Given the description of an element on the screen output the (x, y) to click on. 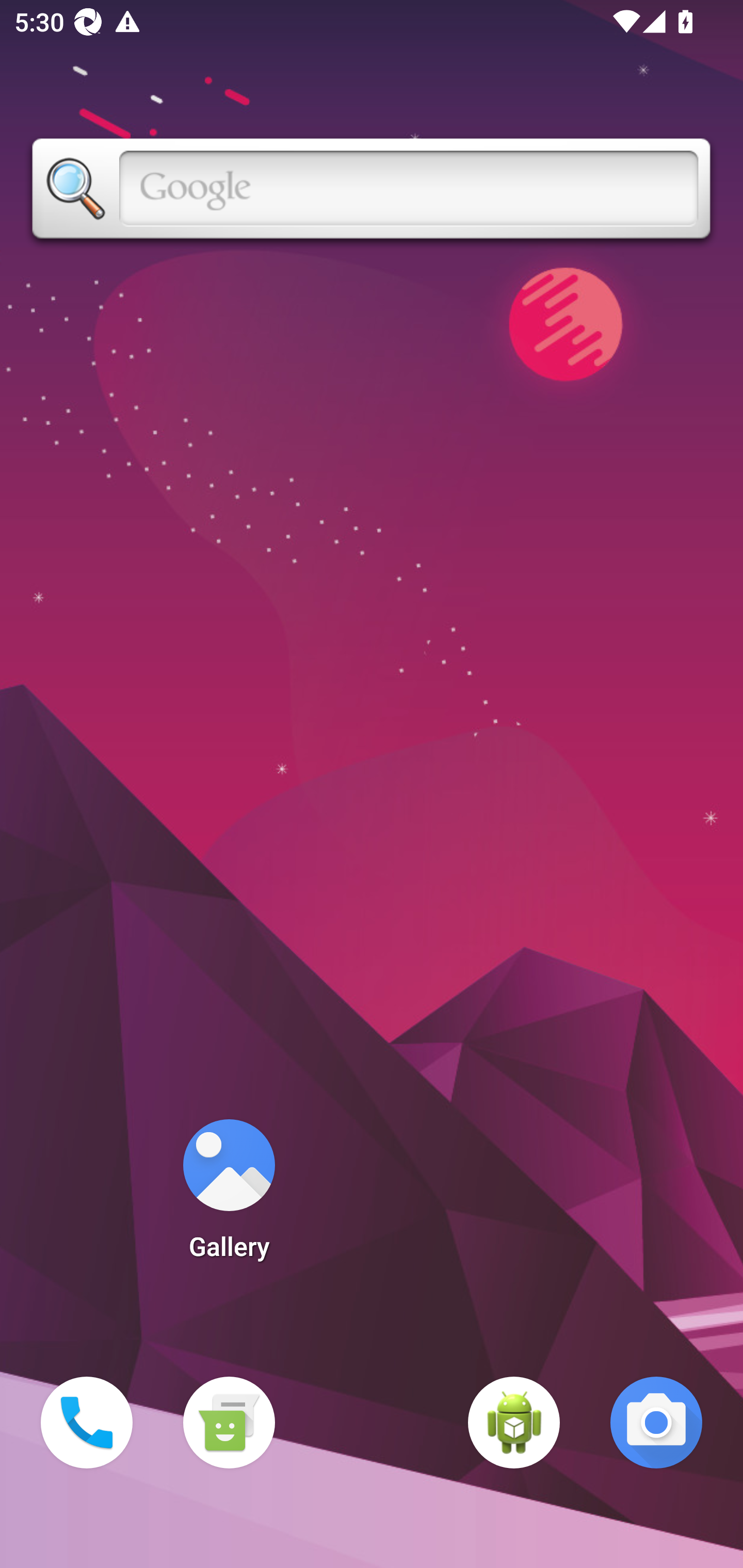
Gallery (228, 1195)
Phone (86, 1422)
Messaging (228, 1422)
WebView Browser Tester (513, 1422)
Camera (656, 1422)
